Given the description of an element on the screen output the (x, y) to click on. 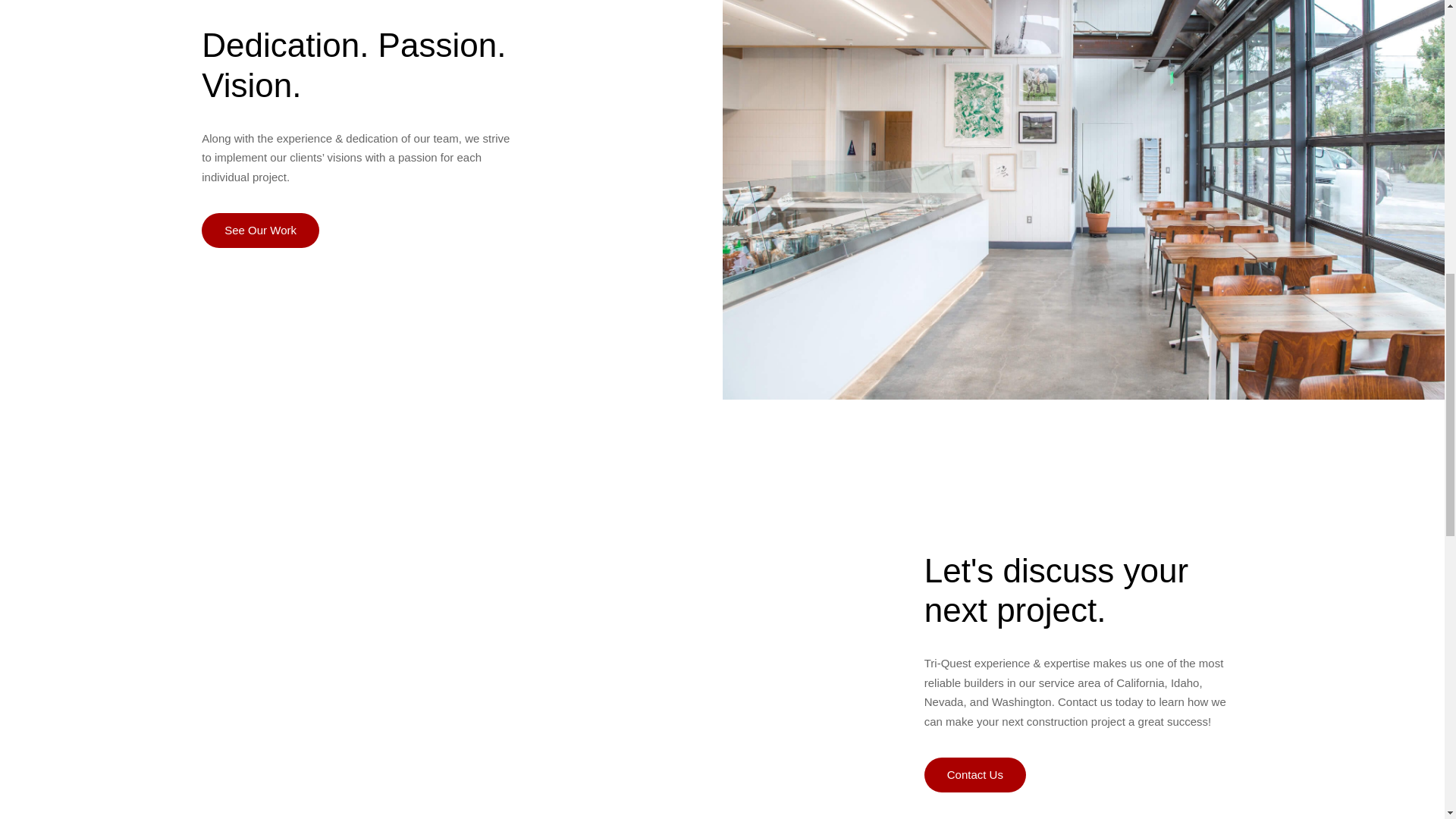
Contact Us (975, 774)
See Our Work (260, 230)
